Given the description of an element on the screen output the (x, y) to click on. 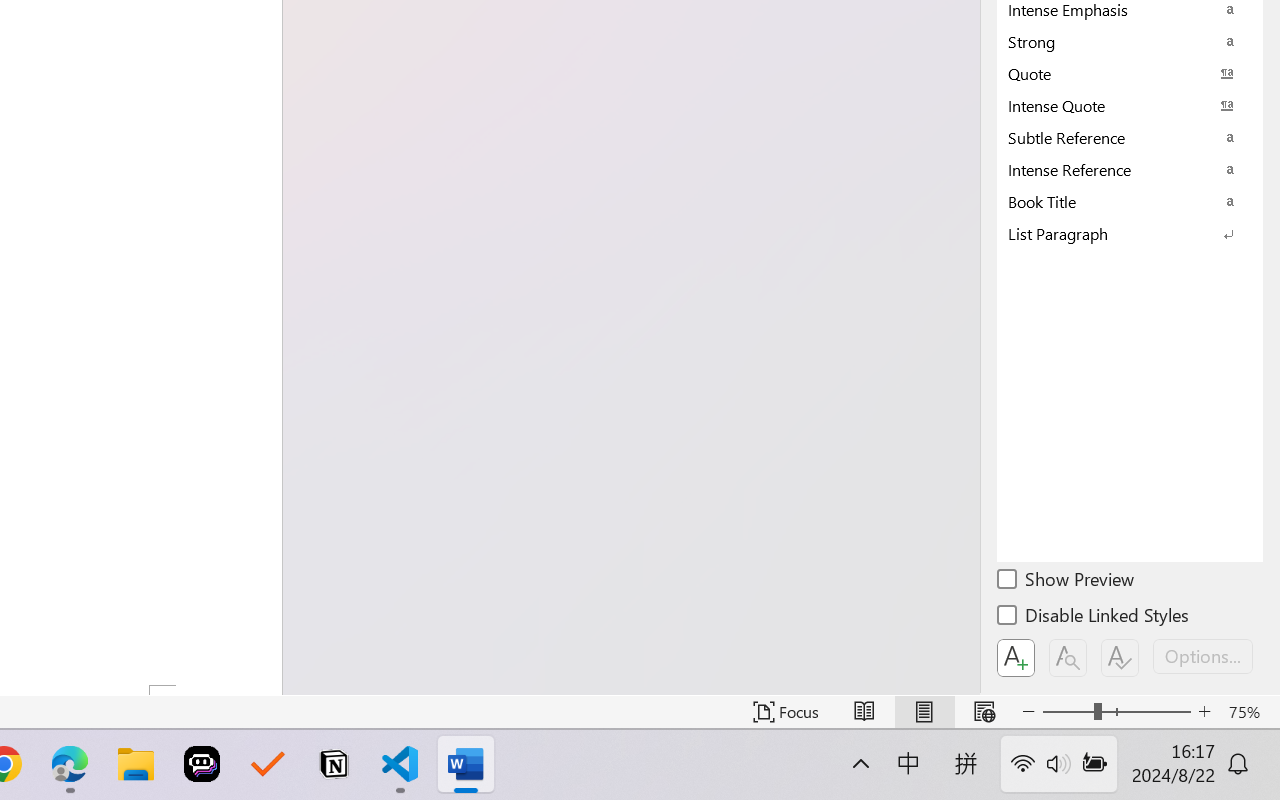
Quote (1130, 73)
Show Preview (1067, 582)
Subtle Reference (1130, 137)
Zoom 75% (1249, 712)
Intense Quote (1130, 105)
Class: NetUIButton (1119, 657)
Strong (1130, 41)
Book Title (1130, 201)
List Paragraph (1130, 233)
